Given the description of an element on the screen output the (x, y) to click on. 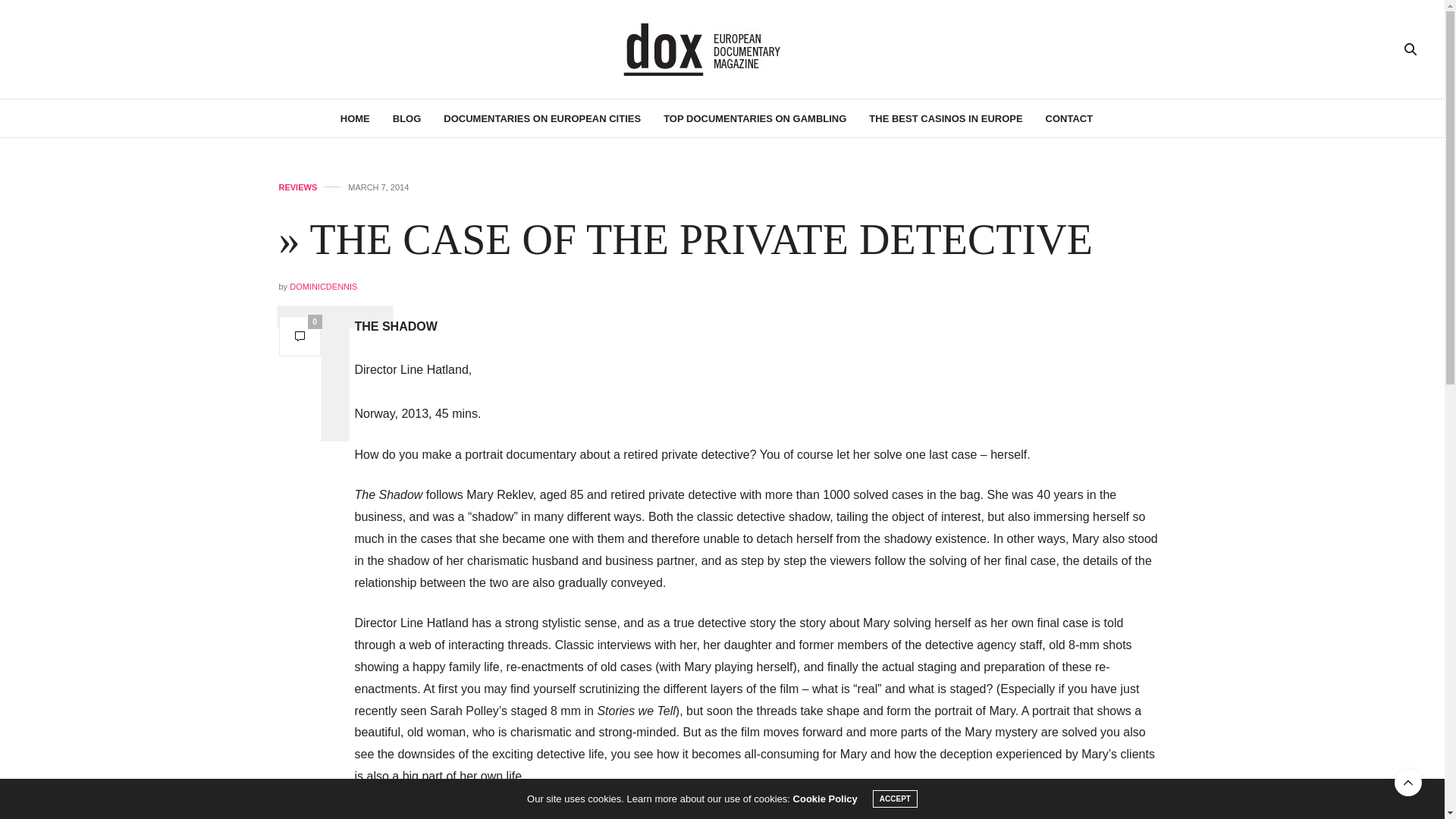
REVIEWS (298, 187)
TOP DOCUMENTARIES ON GAMBLING (754, 118)
Dox Documentary Magazine about the Best Casinos in Europe (722, 49)
CONTACT (1069, 118)
THE BEST CASINOS IN EUROPE (945, 118)
DOCUMENTARIES ON EUROPEAN CITIES (542, 118)
Posts by DominicDennis (322, 286)
0 (299, 336)
DOMINICDENNIS (322, 286)
